Given the description of an element on the screen output the (x, y) to click on. 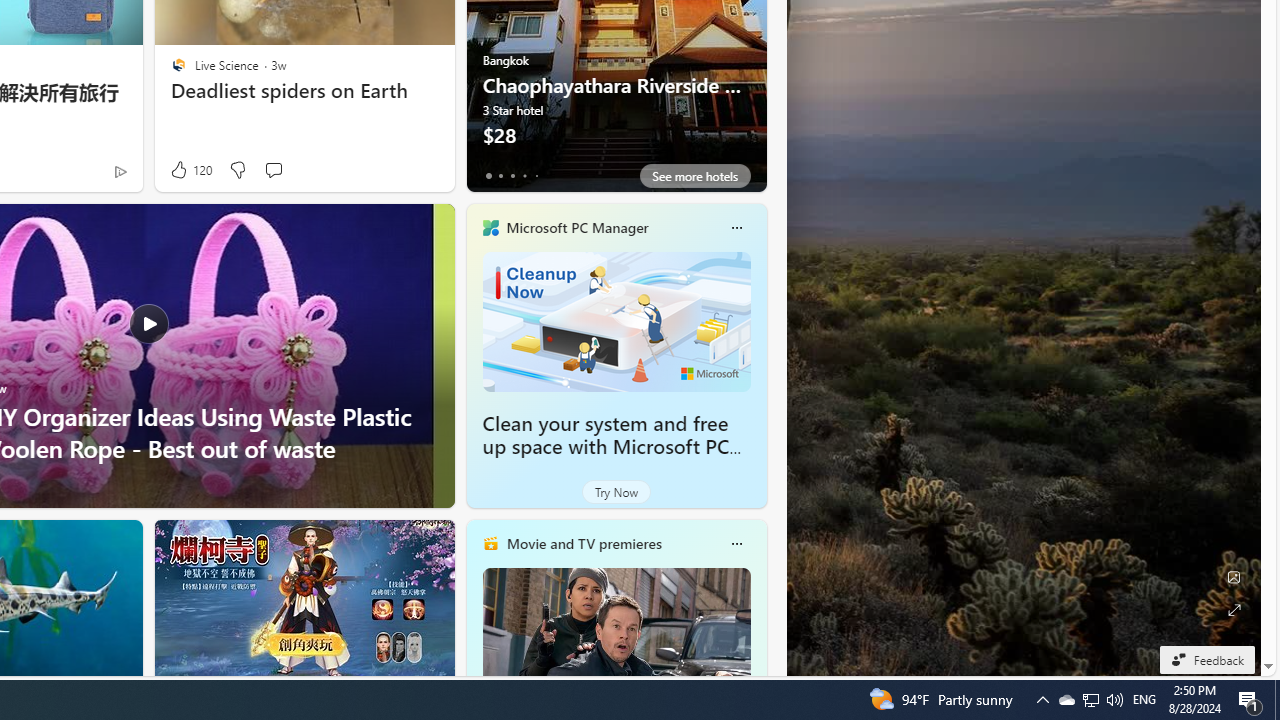
tab-4 (535, 175)
Expand background (1233, 610)
tab-3 (524, 175)
Class: icon-img (736, 543)
